Given the description of an element on the screen output the (x, y) to click on. 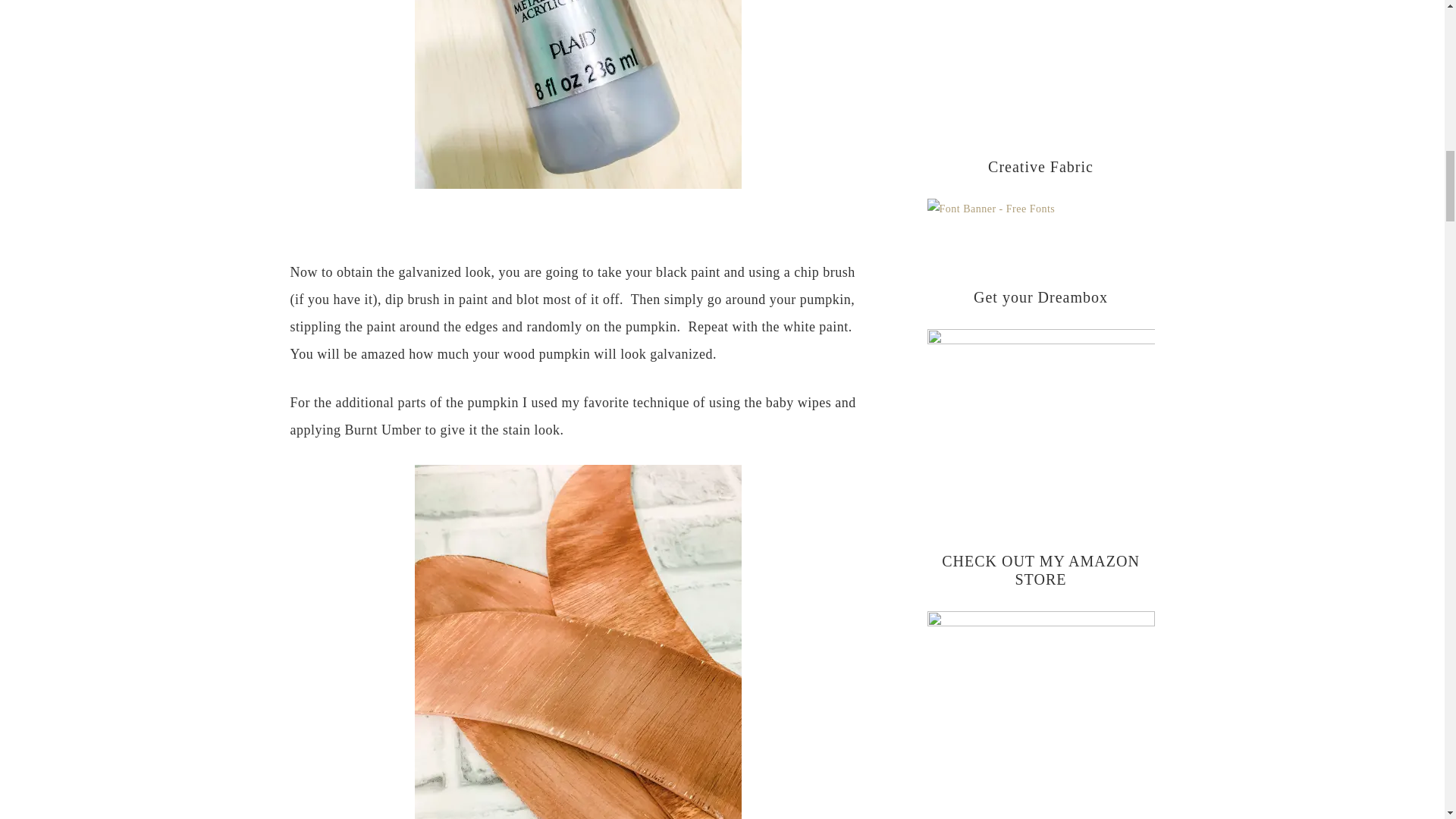
Get your Dreambox (1040, 406)
Font Banner - Free Fonts (990, 208)
